Given the description of an element on the screen output the (x, y) to click on. 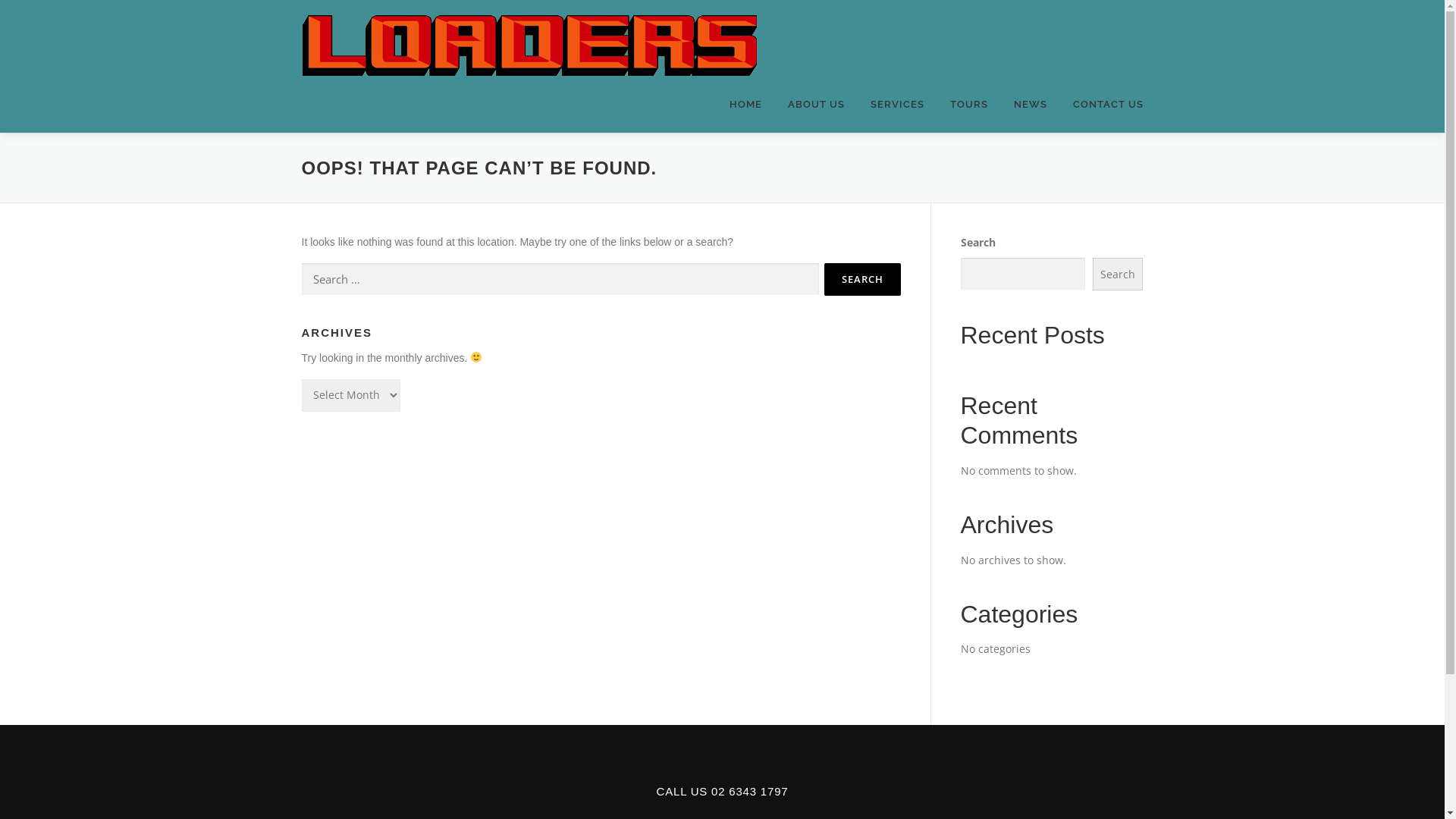
SERVICES Element type: text (896, 103)
NEWS Element type: text (1030, 103)
Search Element type: text (1117, 273)
Search Element type: text (861, 279)
TOURS Element type: text (969, 103)
HOME Element type: text (744, 103)
ABOUT US Element type: text (816, 103)
CONTACT US Element type: text (1101, 103)
